Given the description of an element on the screen output the (x, y) to click on. 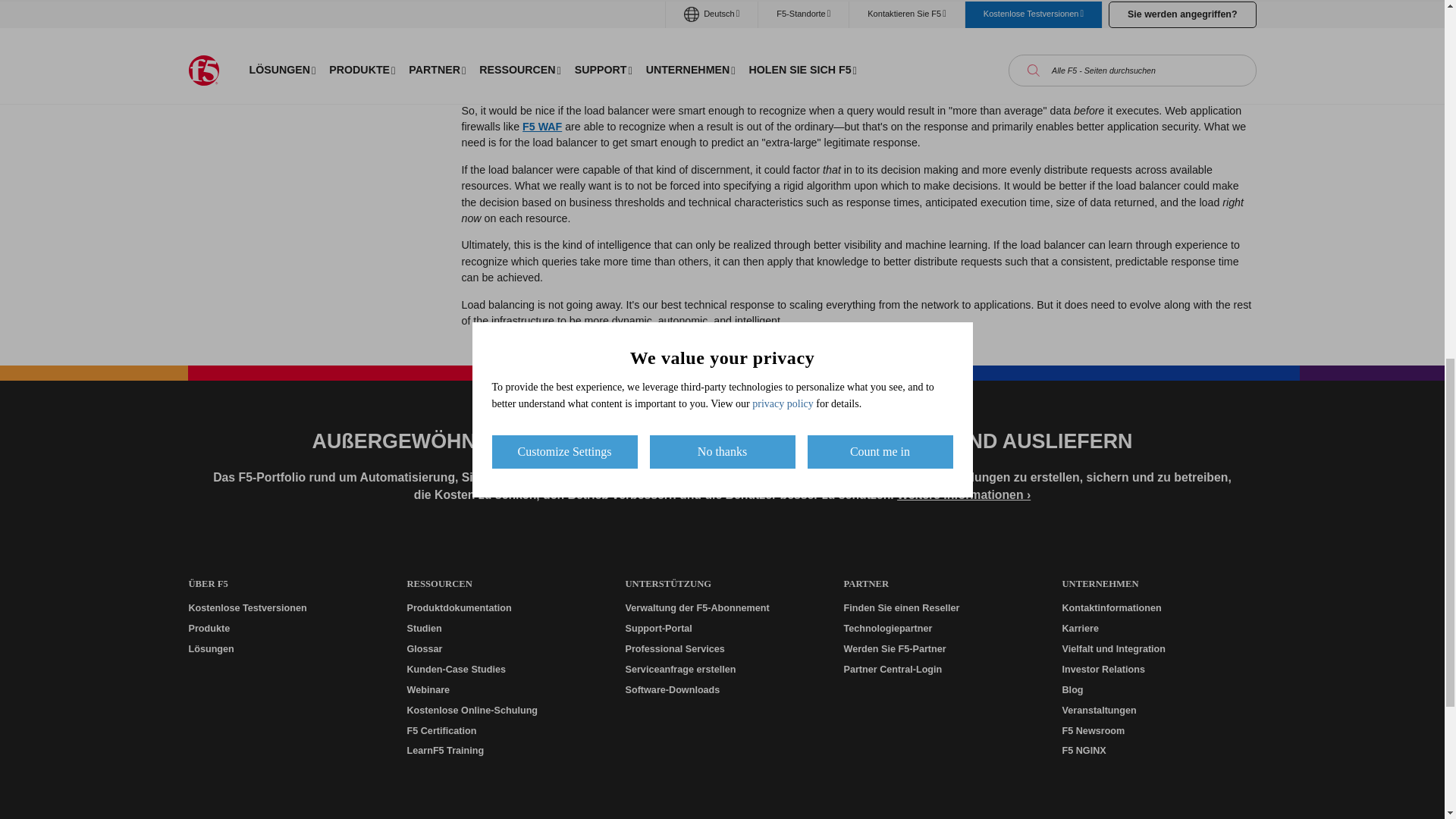
Support-Portal (721, 628)
Kostenlose Online-Schulung (502, 710)
Webinare (502, 690)
Produktdokumentation (502, 608)
LearnF5 Training (502, 750)
F5 Certification (502, 730)
Kunden-Case Studies (502, 669)
Produkte (284, 628)
Kostenlose Testversionen (284, 608)
Verwaltung der F5-Abonnement (721, 608)
Studien (502, 628)
Professional Services (721, 649)
Glossar (502, 649)
F5 WAF (542, 126)
